Given the description of an element on the screen output the (x, y) to click on. 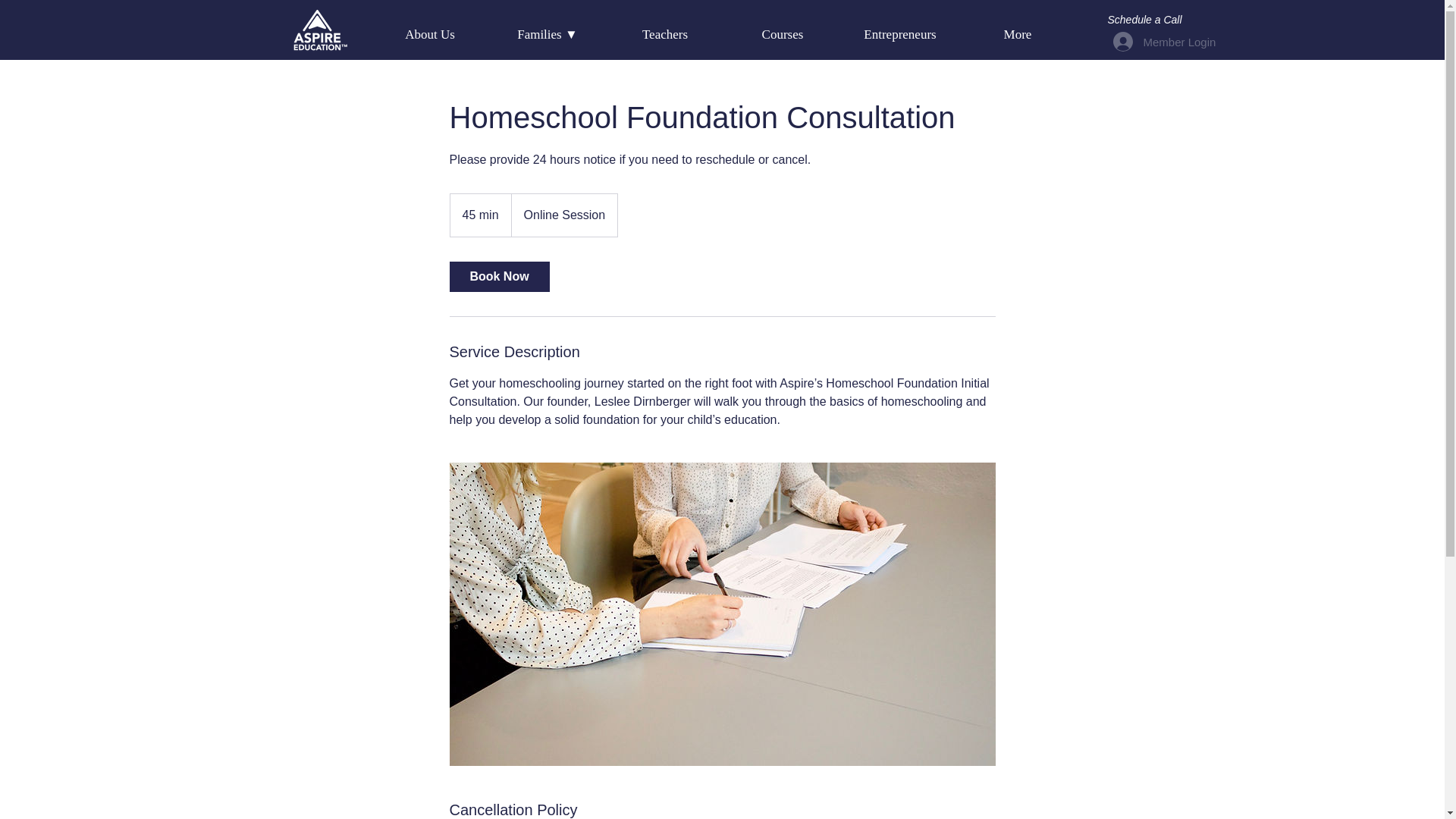
Teachers (665, 34)
Member Login (1136, 41)
Courses (782, 34)
Book Now (498, 276)
Schedule a Call (1144, 19)
About Us (430, 34)
Entrepreneurs (900, 34)
